Given the description of an element on the screen output the (x, y) to click on. 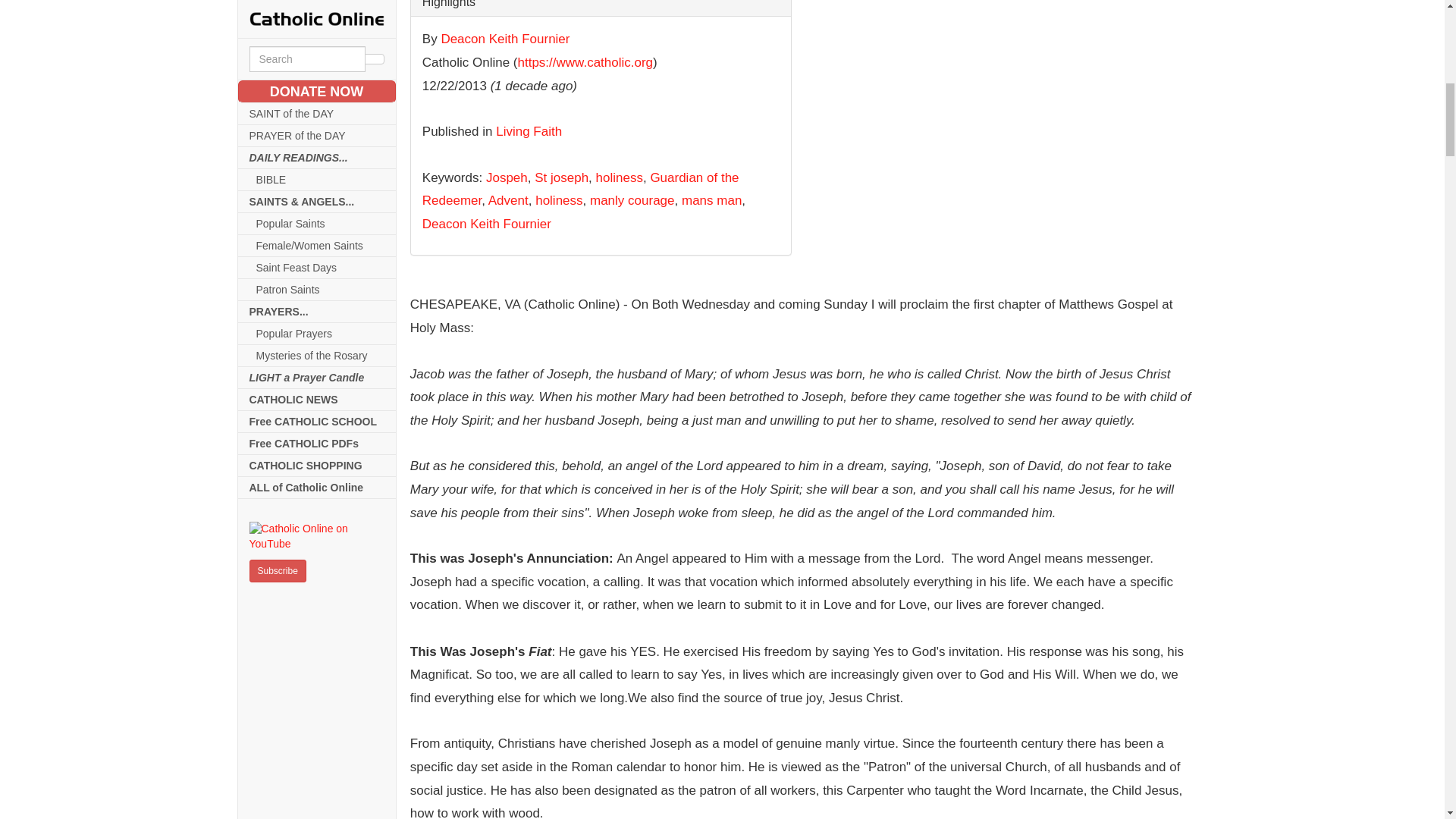
Living Faith (529, 131)
Deacon Keith Fournier (505, 38)
